Given the description of an element on the screen output the (x, y) to click on. 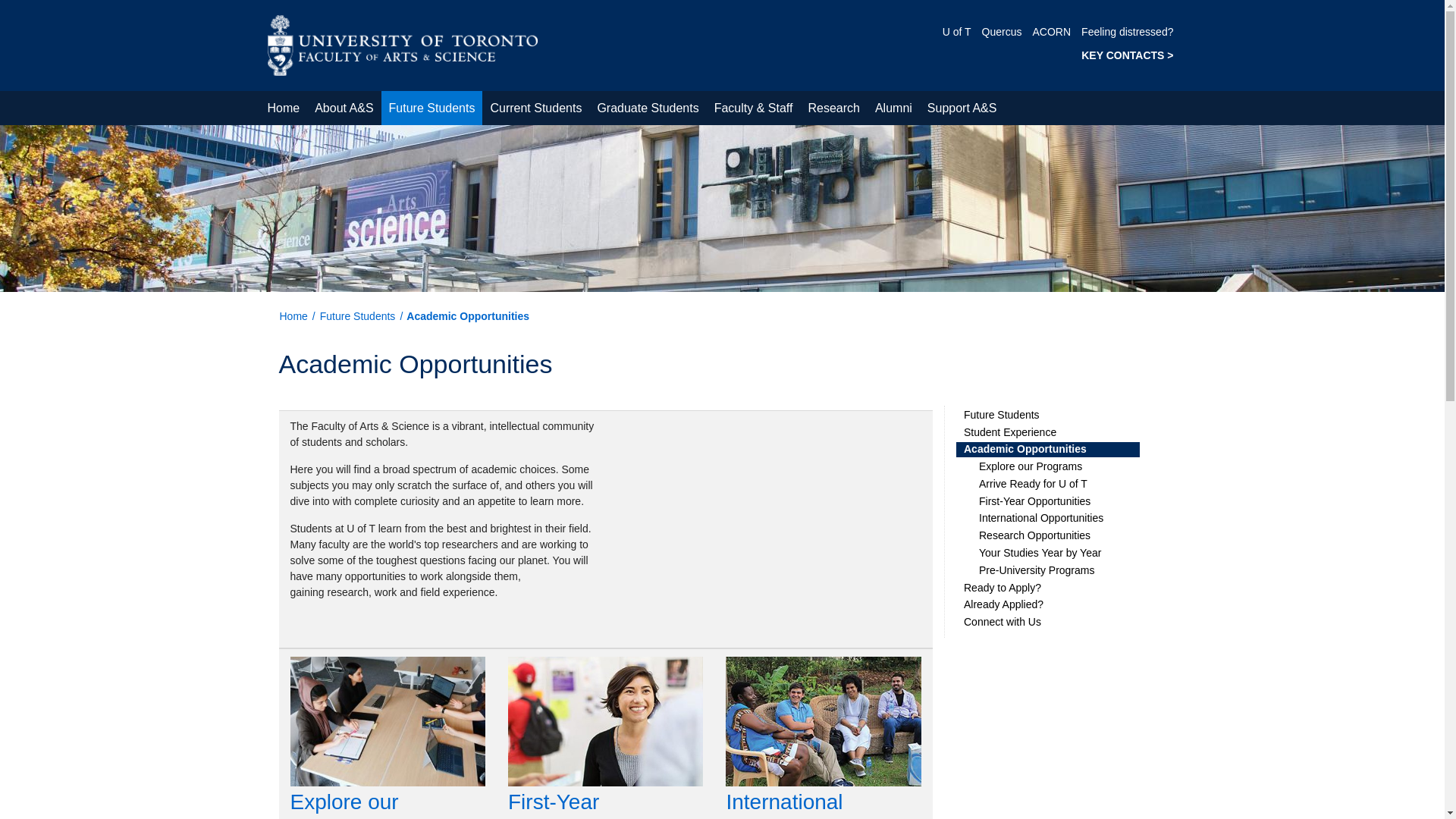
U of T (956, 31)
Quercus (1001, 31)
YouTube video player (769, 515)
Future Students (432, 107)
Home (283, 107)
Feeling distressed? (1127, 31)
Home (401, 44)
ACORN (1051, 31)
